Given the description of an element on the screen output the (x, y) to click on. 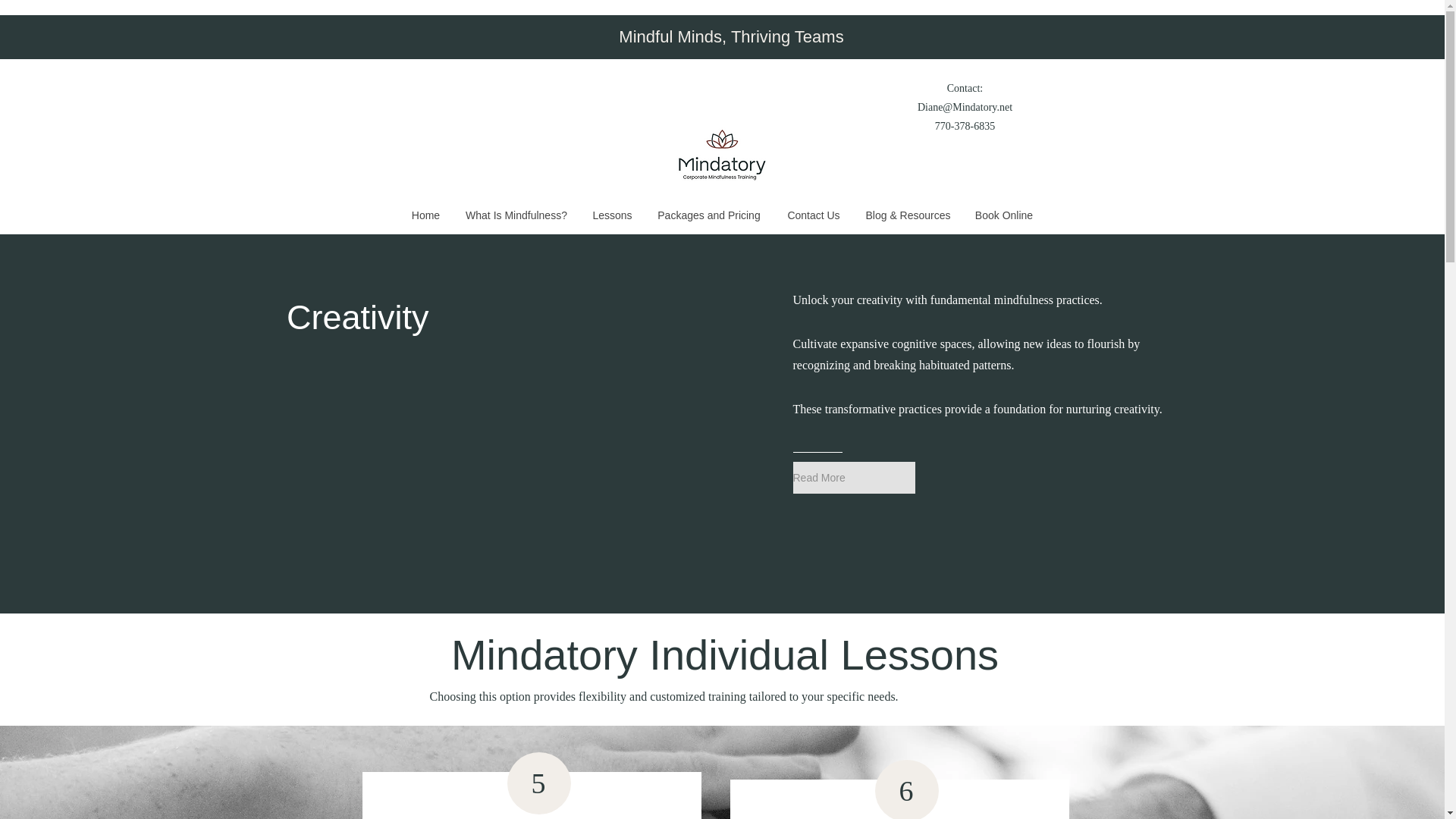
What Is Mindfulness? (515, 214)
Lessons (611, 214)
Read More (854, 477)
Home (424, 214)
Contact Us (813, 214)
Book Online (1003, 214)
Packages and Pricing (708, 214)
